Given the description of an element on the screen output the (x, y) to click on. 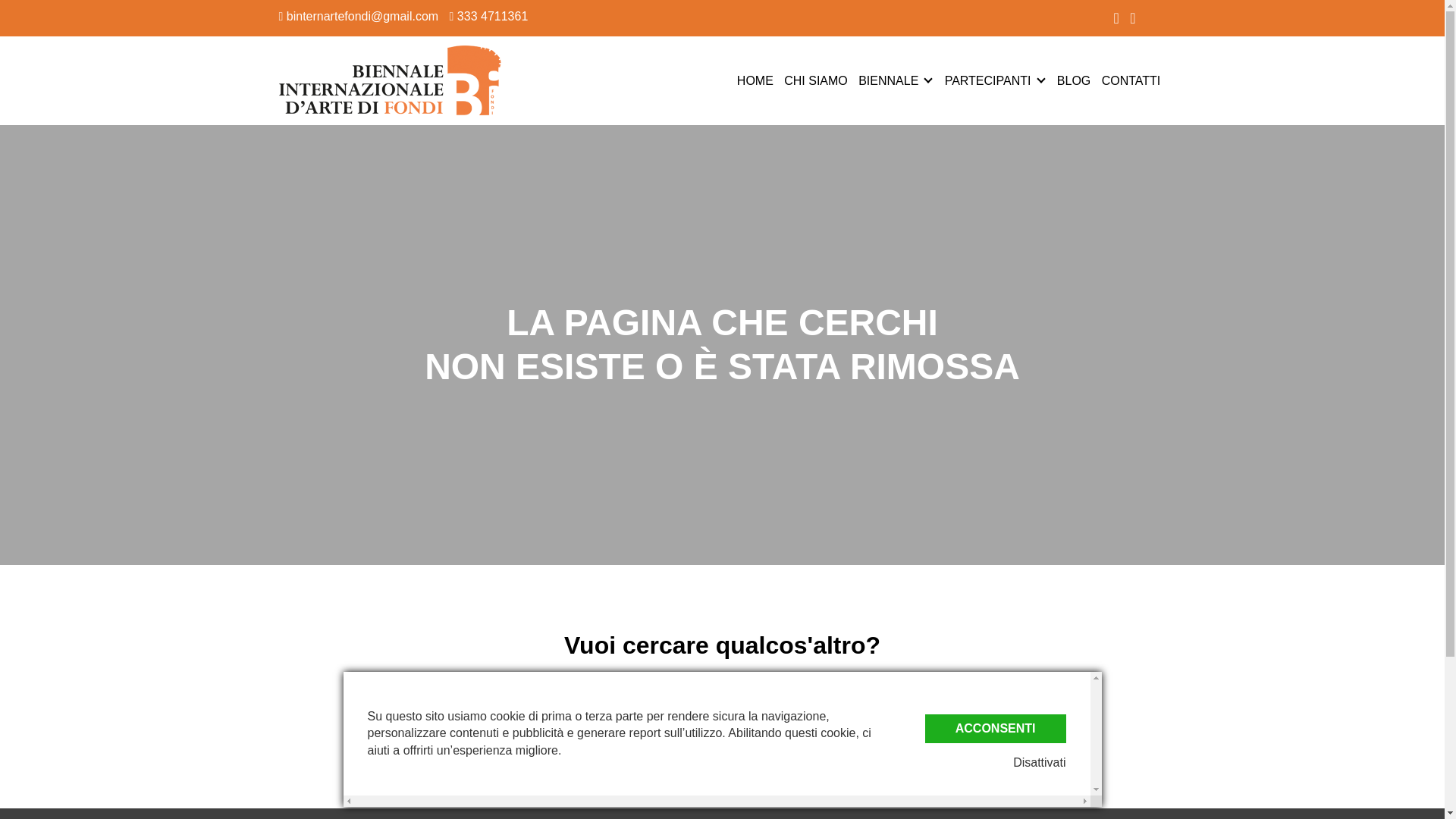
Chiamaci (488, 15)
CONTATTI (1131, 80)
333 4711361 (488, 15)
Email (359, 15)
HOME (755, 80)
BLOG (1073, 80)
Cerca (721, 748)
PARTECIPANTI (987, 80)
CHI SIAMO (815, 80)
BIENNALE (888, 80)
Cerca (721, 748)
